Given the description of an element on the screen output the (x, y) to click on. 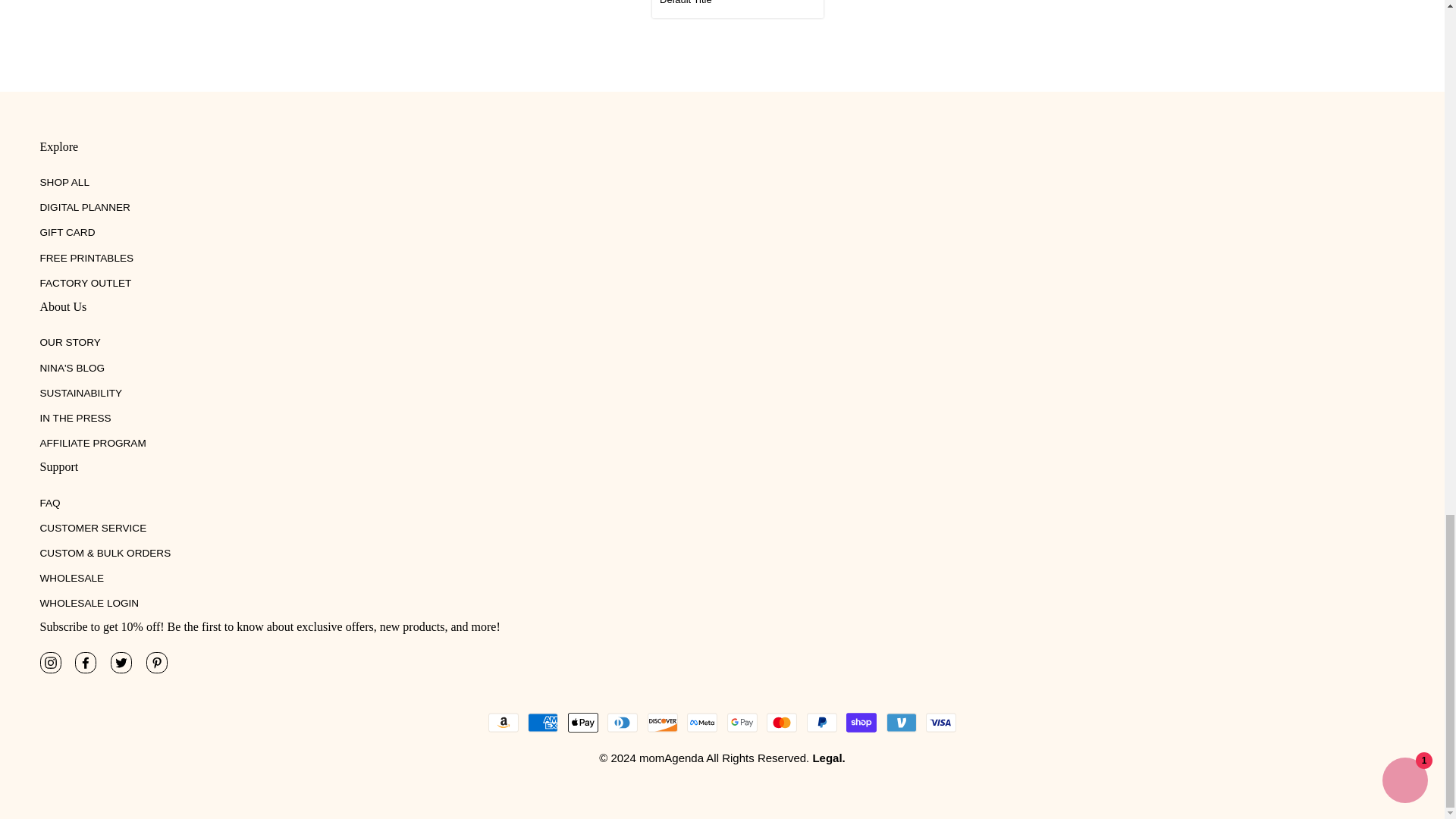
momAgenda on Instagram (50, 662)
momAgenda on Twitter (121, 662)
American Express (542, 722)
Product reviews widget (555, 45)
Amazon (502, 722)
momAgenda on Facebook (85, 662)
momAgenda on Pinterest (157, 662)
